Given the description of an element on the screen output the (x, y) to click on. 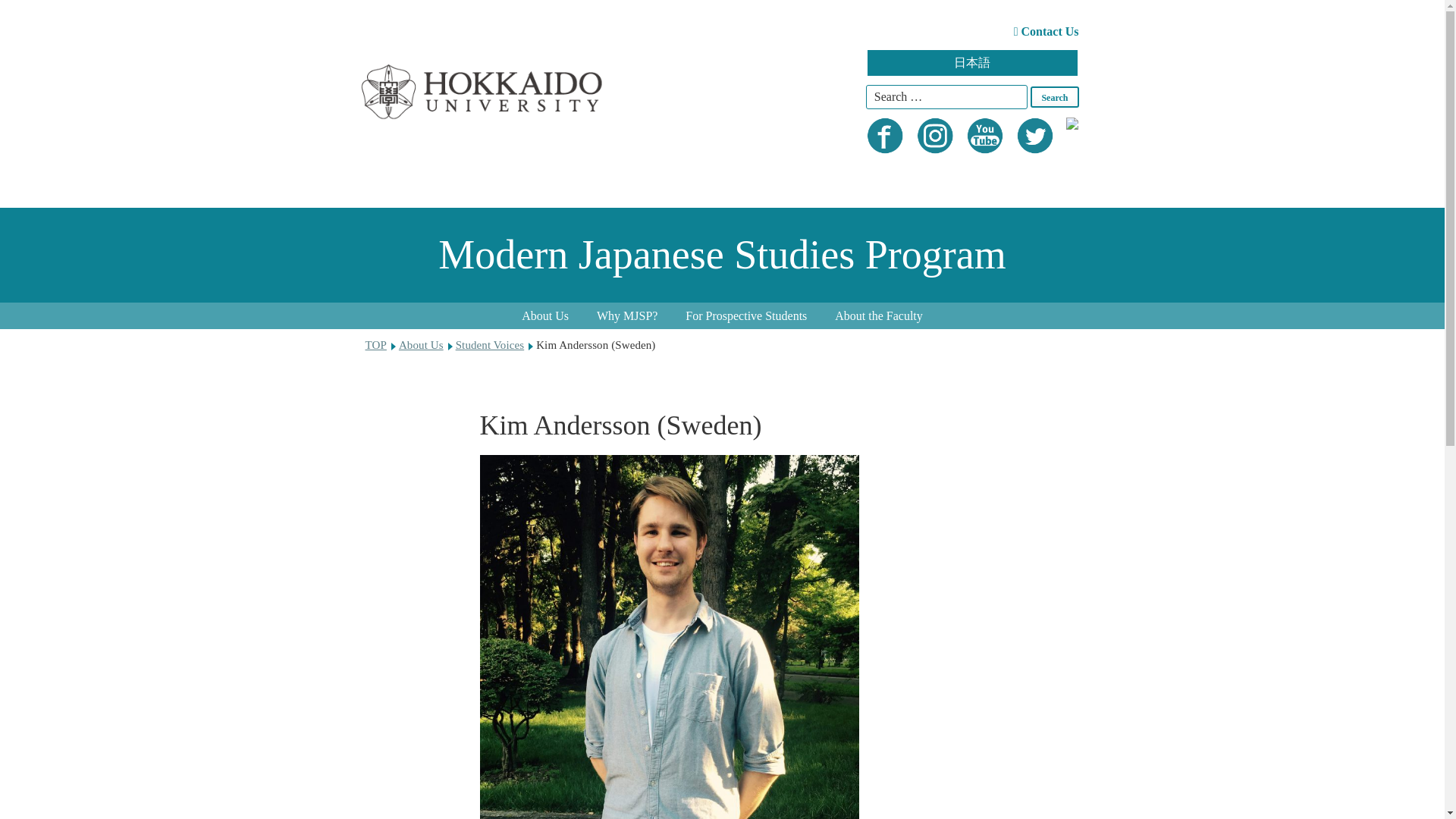
About Us (544, 315)
Search (1054, 96)
For Prospective Students (745, 315)
About the Faculty (878, 315)
Contact Us (1045, 31)
TOP (376, 345)
Search (1054, 96)
About Us (421, 345)
Why MJSP? (626, 315)
Search (1054, 96)
